Given the description of an element on the screen output the (x, y) to click on. 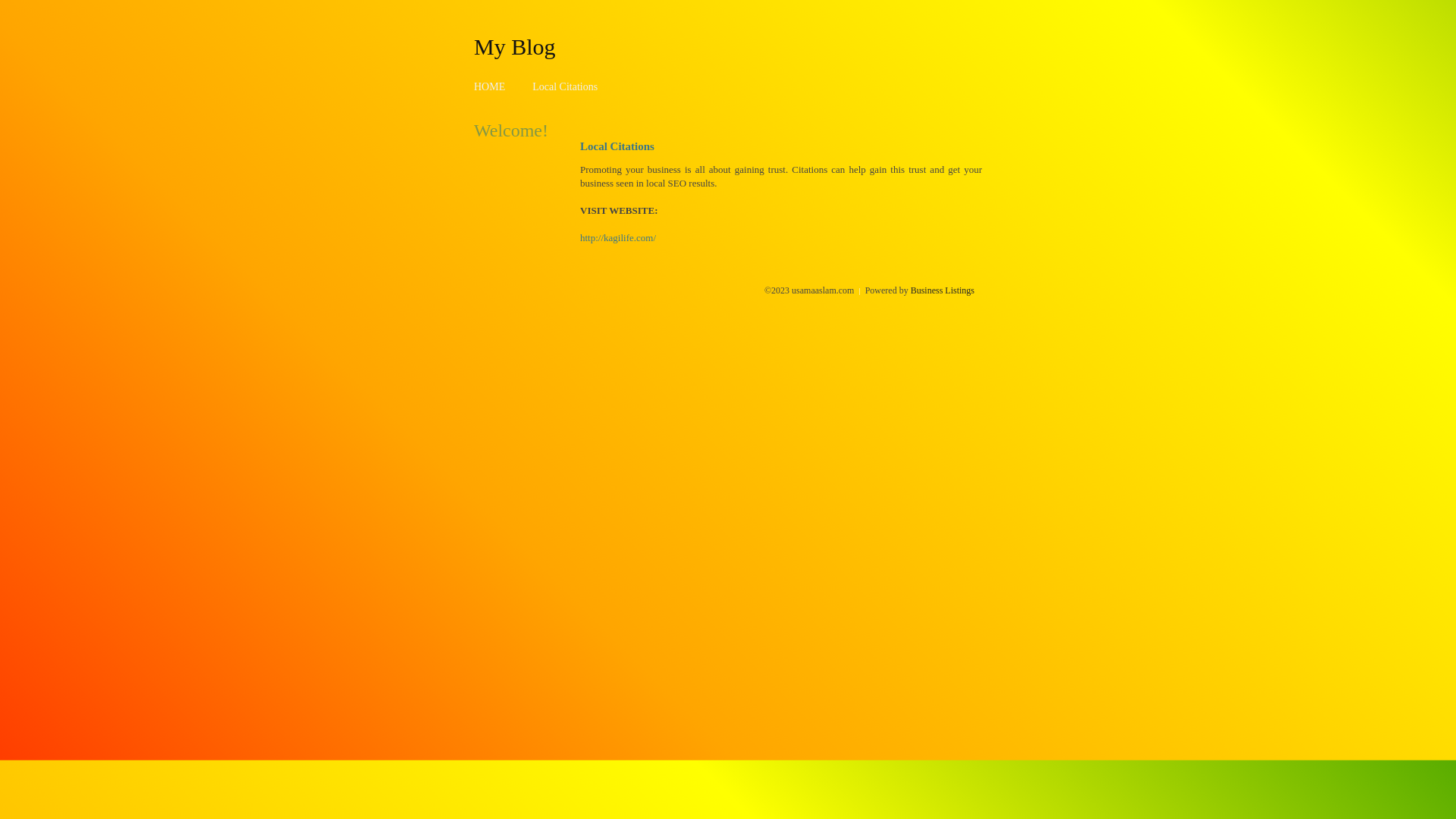
My Blog Element type: text (514, 46)
HOME Element type: text (489, 86)
Local Citations Element type: text (564, 86)
Business Listings Element type: text (942, 290)
http://kagilife.com/ Element type: text (617, 237)
